Given the description of an element on the screen output the (x, y) to click on. 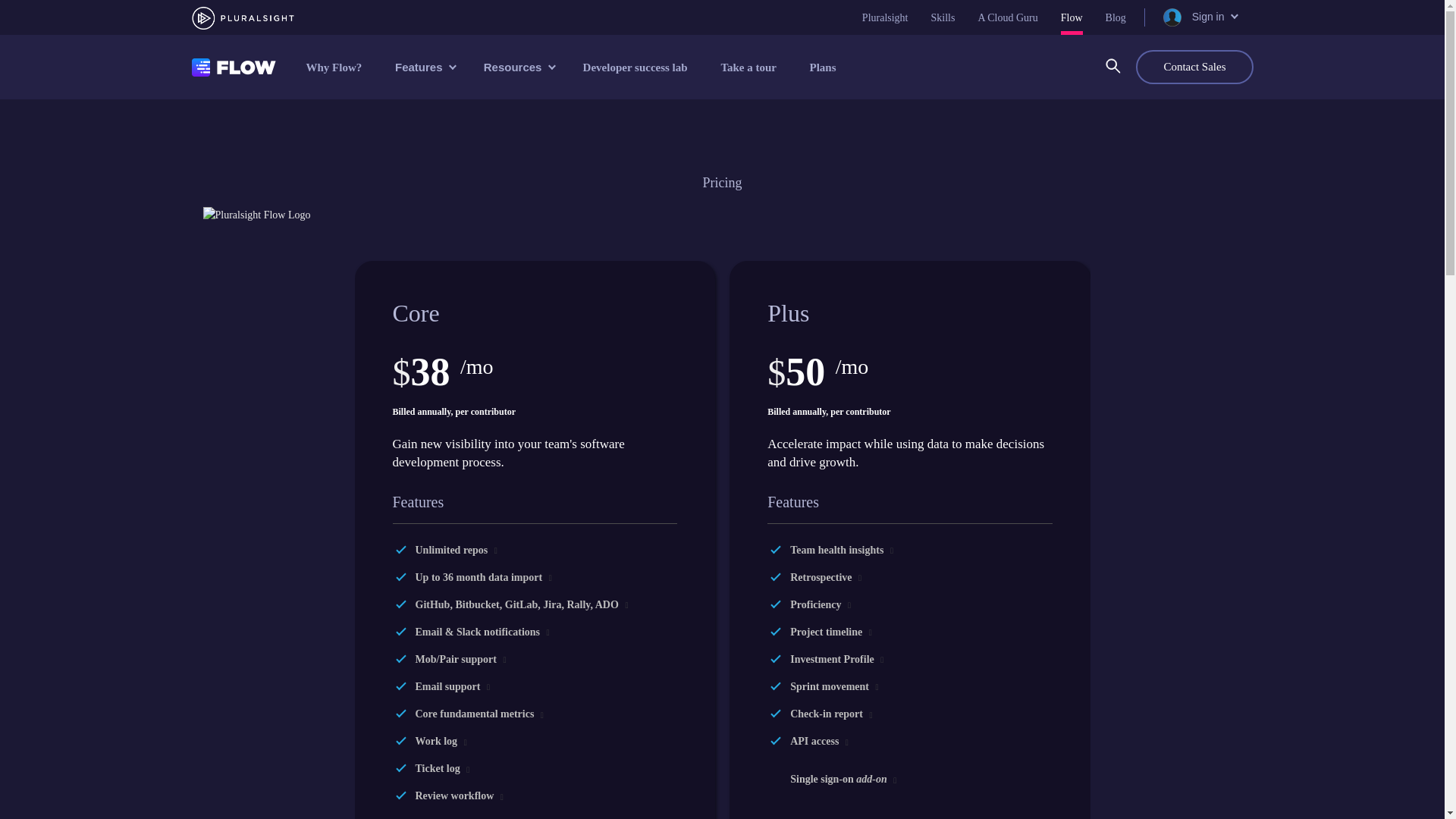
Blog (1115, 16)
Sign in (1198, 17)
Pluralsight (884, 16)
Flow (1072, 16)
Why Flow? (335, 66)
Resources (518, 66)
Features (423, 66)
Developer success lab (636, 66)
Plans (824, 66)
A Cloud Guru (1006, 16)
Skills (943, 16)
Take a tour (749, 66)
